Given the description of an element on the screen output the (x, y) to click on. 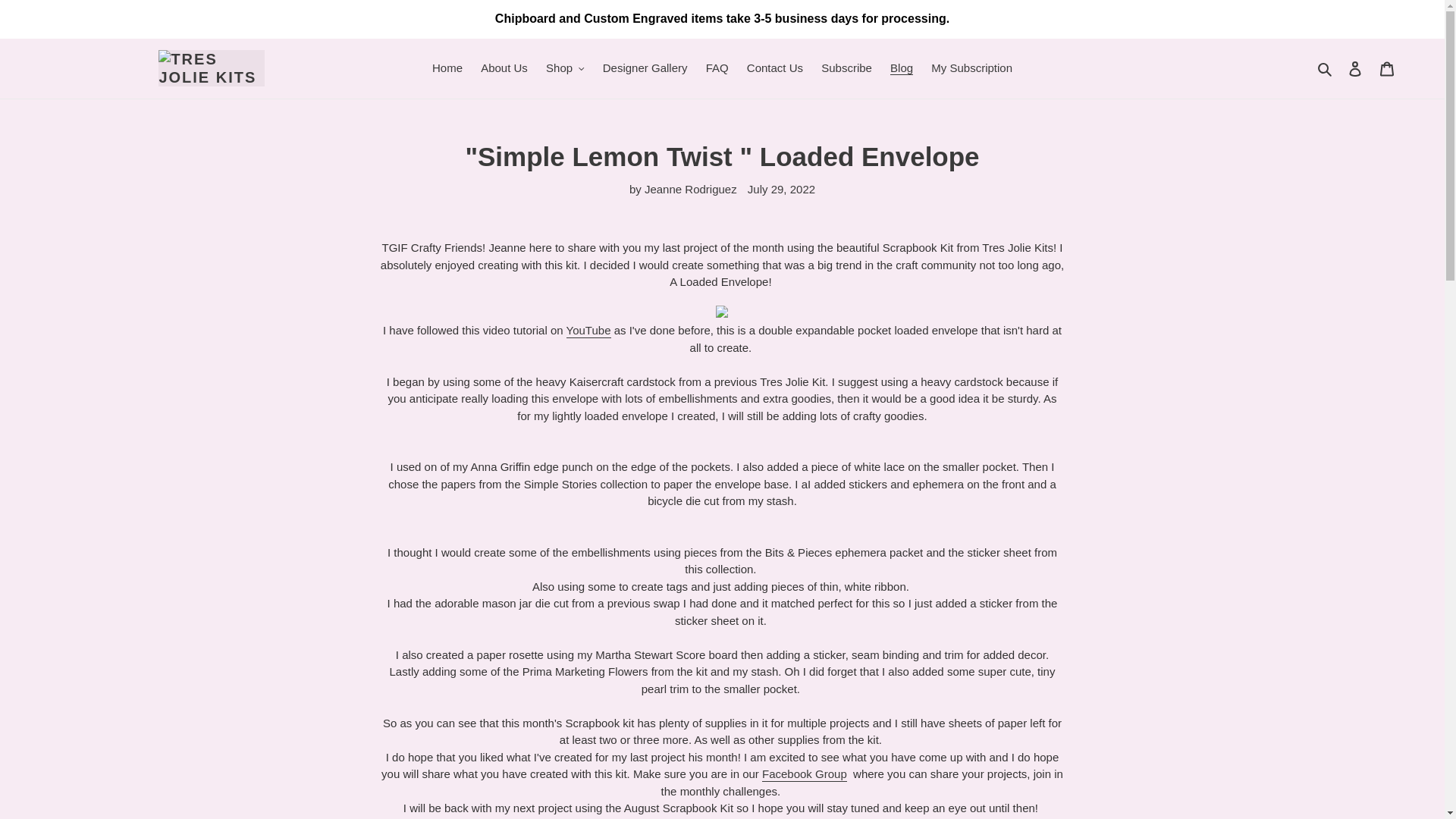
FAQ (717, 68)
Search (1326, 67)
Home (447, 68)
Designer Gallery (645, 68)
Contact Us (774, 68)
Cart (1387, 68)
Blog (901, 68)
Subscribe (846, 68)
My Subscription (971, 68)
Log in (1355, 68)
Shop (565, 68)
About Us (504, 68)
